Given the description of an element on the screen output the (x, y) to click on. 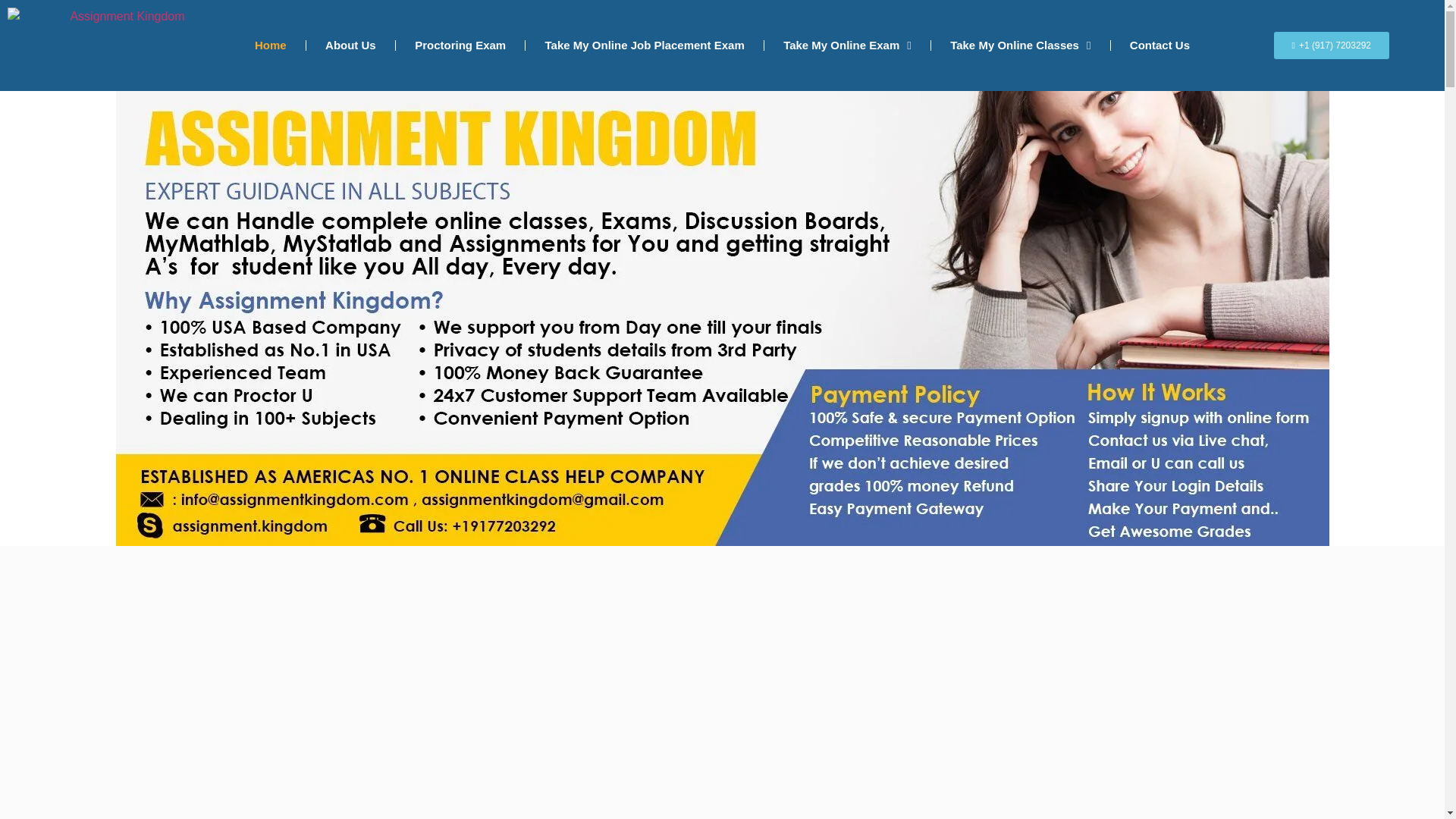
Take My Online Exam (847, 45)
About Us (350, 45)
Take My Online Job Placement Exam (643, 45)
Home (270, 45)
Proctoring Exam (459, 45)
